Given the description of an element on the screen output the (x, y) to click on. 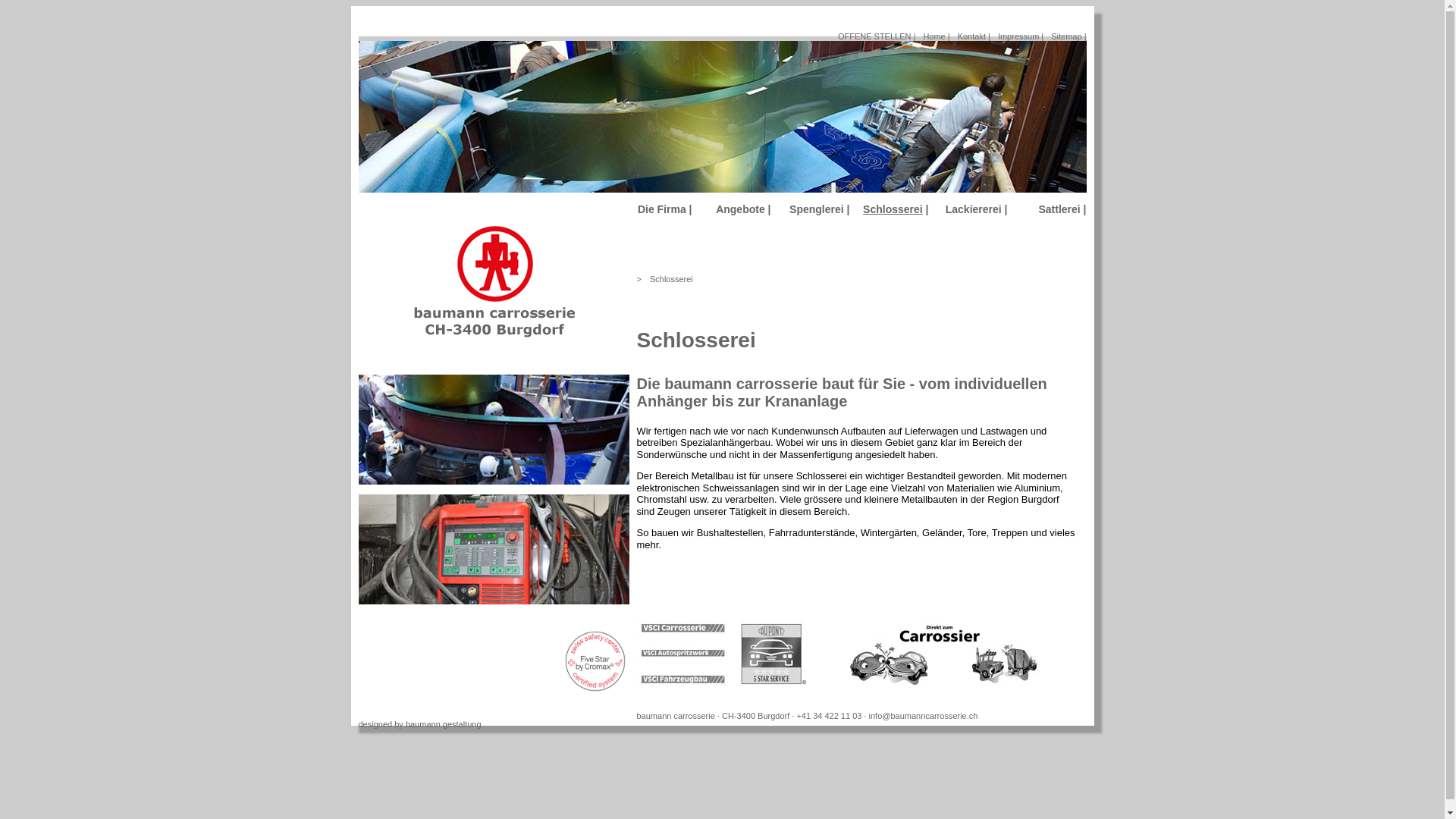
Schlosserei Element type: text (671, 278)
Lackiererei Element type: text (973, 209)
Sattlerei Element type: text (1058, 209)
Schlosserei Element type: text (892, 209)
Kontakt Element type: text (971, 35)
modernste elektronische Schweissanlage Element type: hover (492, 549)
info@baumanncarrosserie.ch Element type: text (923, 715)
Spenglerei Element type: text (816, 209)
OFFENE STELLEN Element type: text (874, 35)
Home Element type: hover (494, 296)
Home Element type: text (933, 35)
Home Element type: hover (492, 337)
Rohbau Kunstwerk Element type: hover (492, 429)
Verbandslogos Element type: hover (858, 653)
Angebote Element type: text (740, 209)
Sitemap Element type: text (1066, 35)
Die Firma Element type: text (661, 209)
Impressum Element type: text (1017, 35)
